Given the description of an element on the screen output the (x, y) to click on. 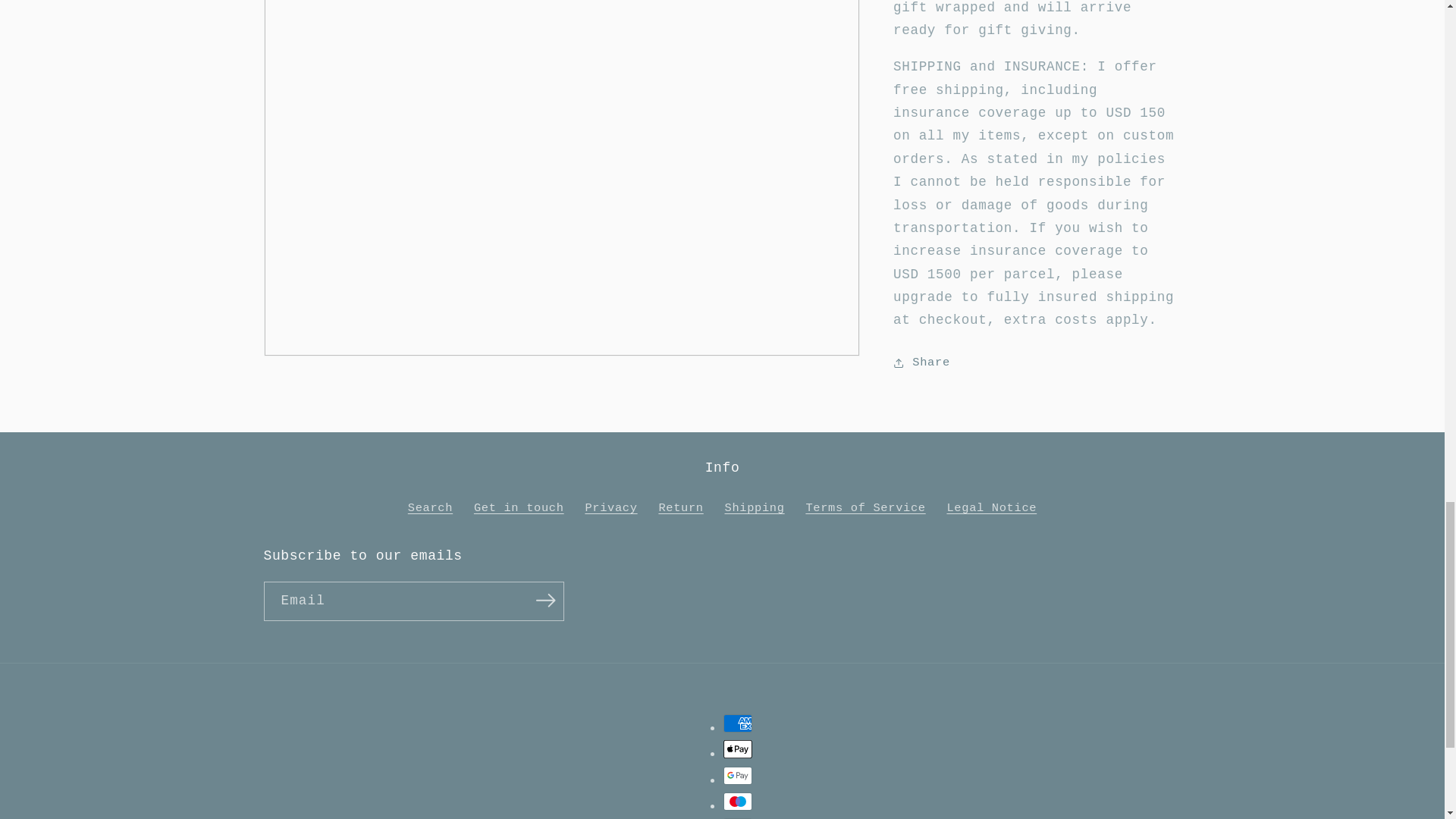
Apple Pay (737, 749)
Google Pay (737, 775)
Maestro (737, 801)
American Express (737, 723)
